Given the description of an element on the screen output the (x, y) to click on. 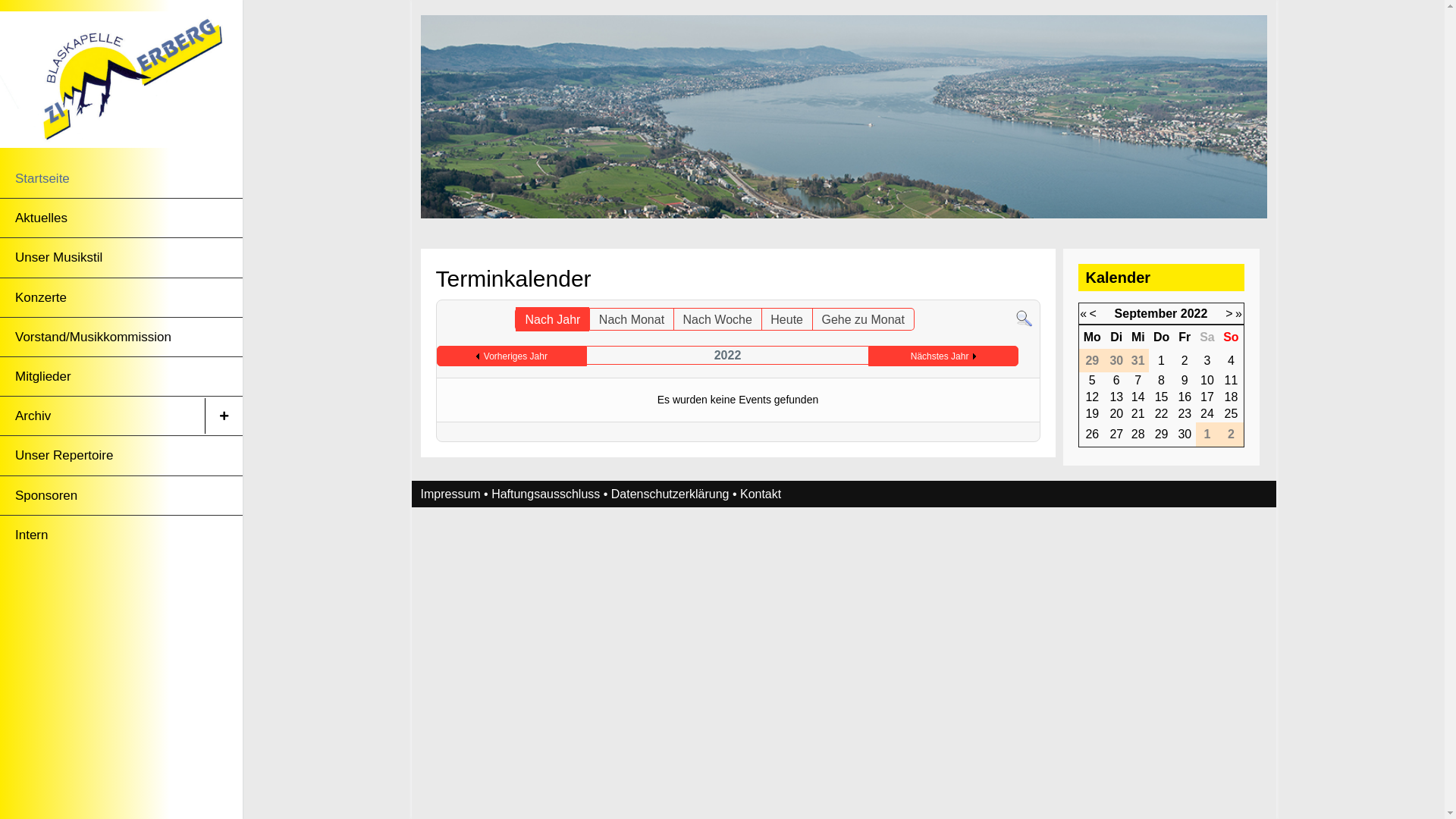
20 Element type: text (1116, 413)
5 Element type: text (1091, 379)
27 Element type: text (1116, 433)
Nach Monat Element type: text (631, 319)
Unser Musikstil Element type: text (102, 257)
Intern Element type: text (102, 534)
6 Element type: text (1116, 379)
12 Element type: text (1091, 396)
15 Element type: text (1161, 396)
Mitglieder Element type: text (102, 376)
Gehe zu Monat Element type: text (862, 319)
29 Element type: text (1161, 433)
Startseite Element type: text (102, 178)
19 Element type: text (1091, 413)
Nach Woche Element type: text (717, 319)
11 Element type: text (1231, 379)
Archiv Element type: text (102, 415)
22 Element type: text (1161, 413)
Kontakt Element type: text (760, 493)
Sponsoren Element type: text (102, 495)
Nach Jahr Element type: text (552, 319)
17 Element type: text (1207, 396)
Unser Repertoire Element type: text (102, 455)
25 Element type: text (1231, 413)
Suche Element type: hover (1024, 317)
26 Element type: text (1091, 433)
18 Element type: text (1231, 396)
Heute Element type: text (786, 319)
Impressum Element type: text (450, 493)
28 Element type: text (1138, 433)
14 Element type: text (1138, 396)
September Element type: text (1145, 313)
Vorstand/Musikkommission Element type: text (102, 336)
2022 Element type: text (1194, 313)
4 Element type: text (1230, 360)
Konzerte Element type: text (102, 297)
Haftungsausschluss Element type: text (545, 493)
30 Element type: text (1184, 433)
Aktuelles Element type: text (102, 217)
21 Element type: text (1138, 413)
8 Element type: text (1160, 379)
23 Element type: text (1184, 413)
7 Element type: text (1137, 379)
9 Element type: text (1184, 379)
10 Element type: text (1207, 379)
24 Element type: text (1207, 413)
1 Element type: text (1160, 360)
13 Element type: text (1116, 396)
3 Element type: text (1206, 360)
Vorheriges Jahr Element type: text (511, 356)
2 Element type: text (1184, 360)
16 Element type: text (1184, 396)
